Given the description of an element on the screen output the (x, y) to click on. 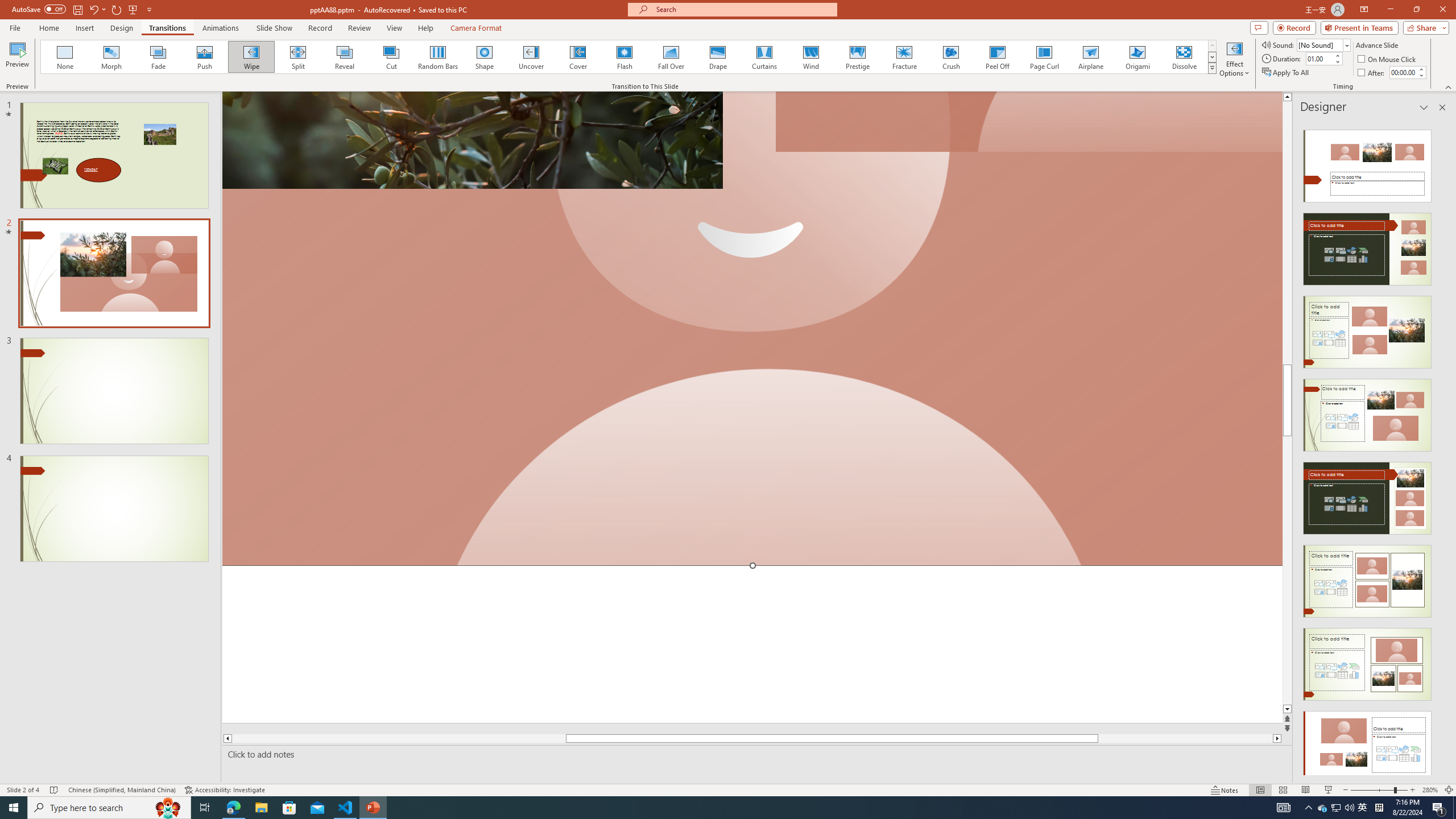
AutomationID: AnimationTransitionGallery (628, 56)
None (65, 56)
Ribbon Display Options (1364, 9)
Minimize (1390, 9)
Help (425, 28)
System (6, 6)
Slide (114, 508)
Restore Down (1416, 9)
Transition Effects (1212, 67)
View (395, 28)
Page Curl (1043, 56)
Page down (1287, 570)
Slide Show (1328, 790)
